Given the description of an element on the screen output the (x, y) to click on. 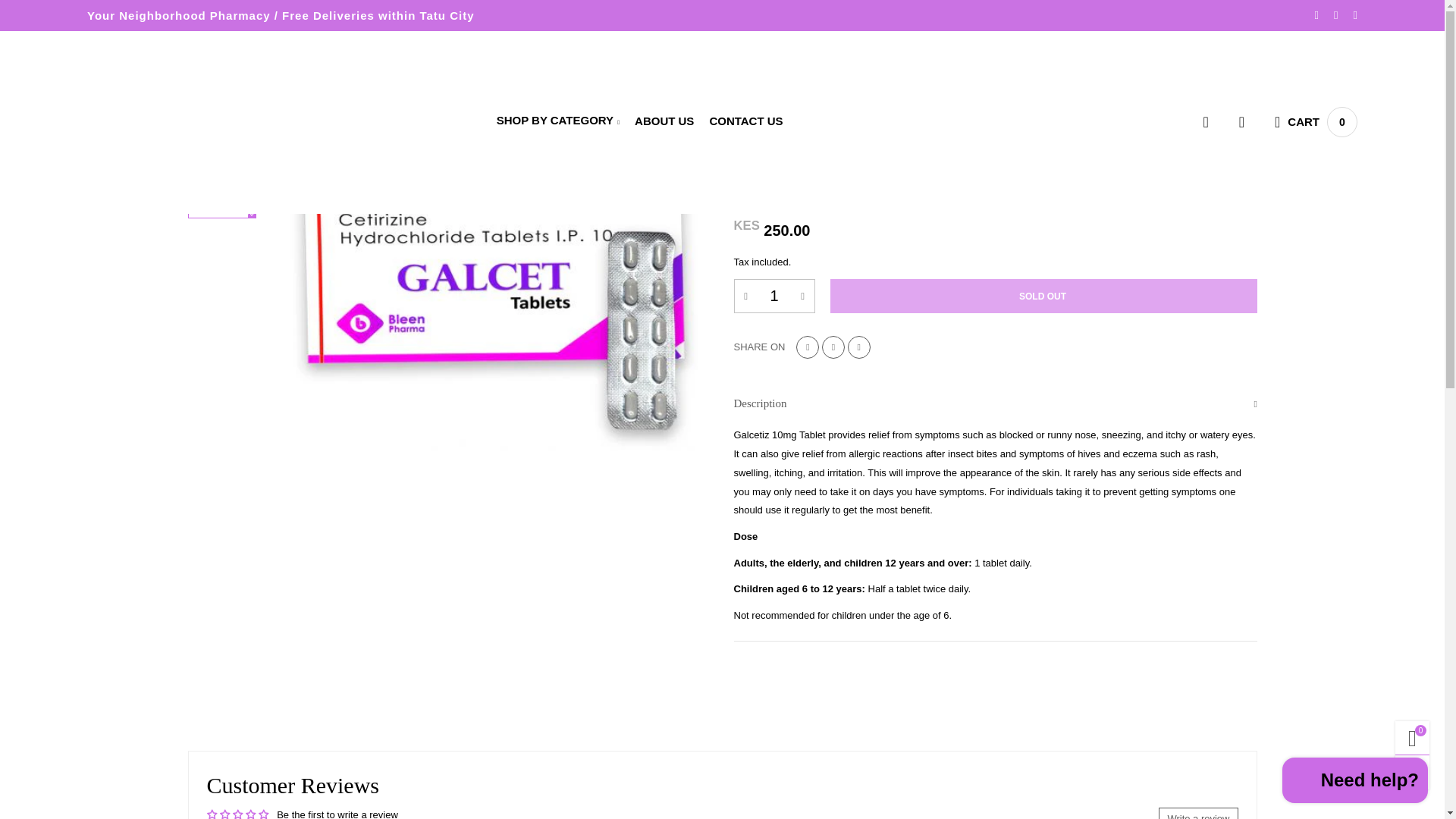
Shop By Category (558, 121)
SHOP BY CATEGORY (558, 121)
Optum Health Pharmacy (185, 129)
1 (773, 296)
